Given the description of an element on the screen output the (x, y) to click on. 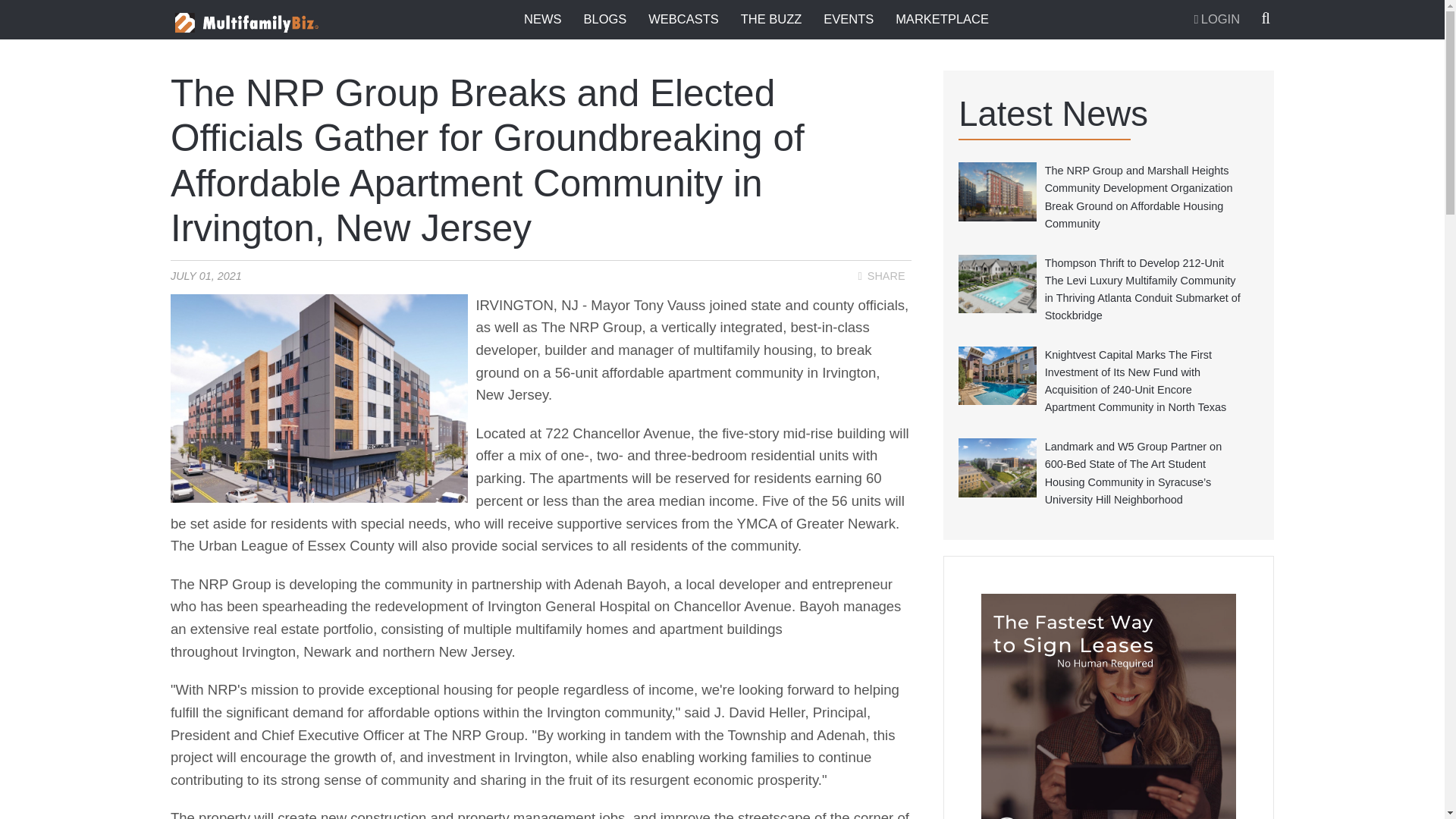
All (754, 84)
LOGIN (1217, 19)
EVENTS (848, 18)
BLOGS (604, 18)
MARKETPLACE (941, 18)
THE BUZZ (771, 18)
MultifamilyBiz Logo (252, 22)
WEBCASTS (683, 18)
NEWS (542, 18)
